Given the description of an element on the screen output the (x, y) to click on. 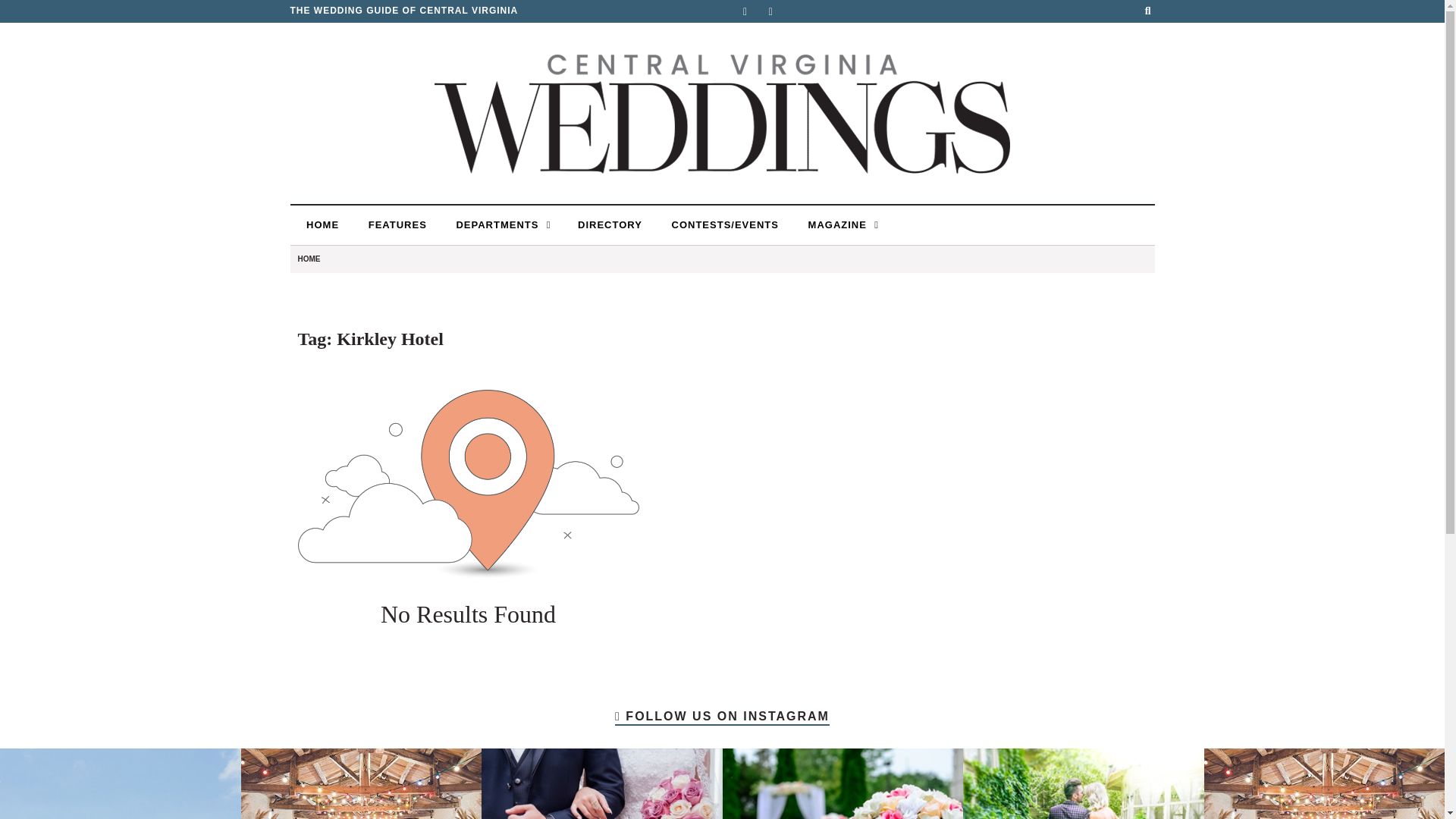
 DIRECTORY (606, 224)
HOME (320, 224)
DIRECTORY (606, 224)
HOME (308, 258)
 DEPARTMENTS (500, 224)
FEATURES (395, 224)
DEPARTMENTS (500, 224)
 MAGAZINE (840, 224)
MAGAZINE (840, 224)
 HOME (320, 224)
 FEATURES (395, 224)
